Given the description of an element on the screen output the (x, y) to click on. 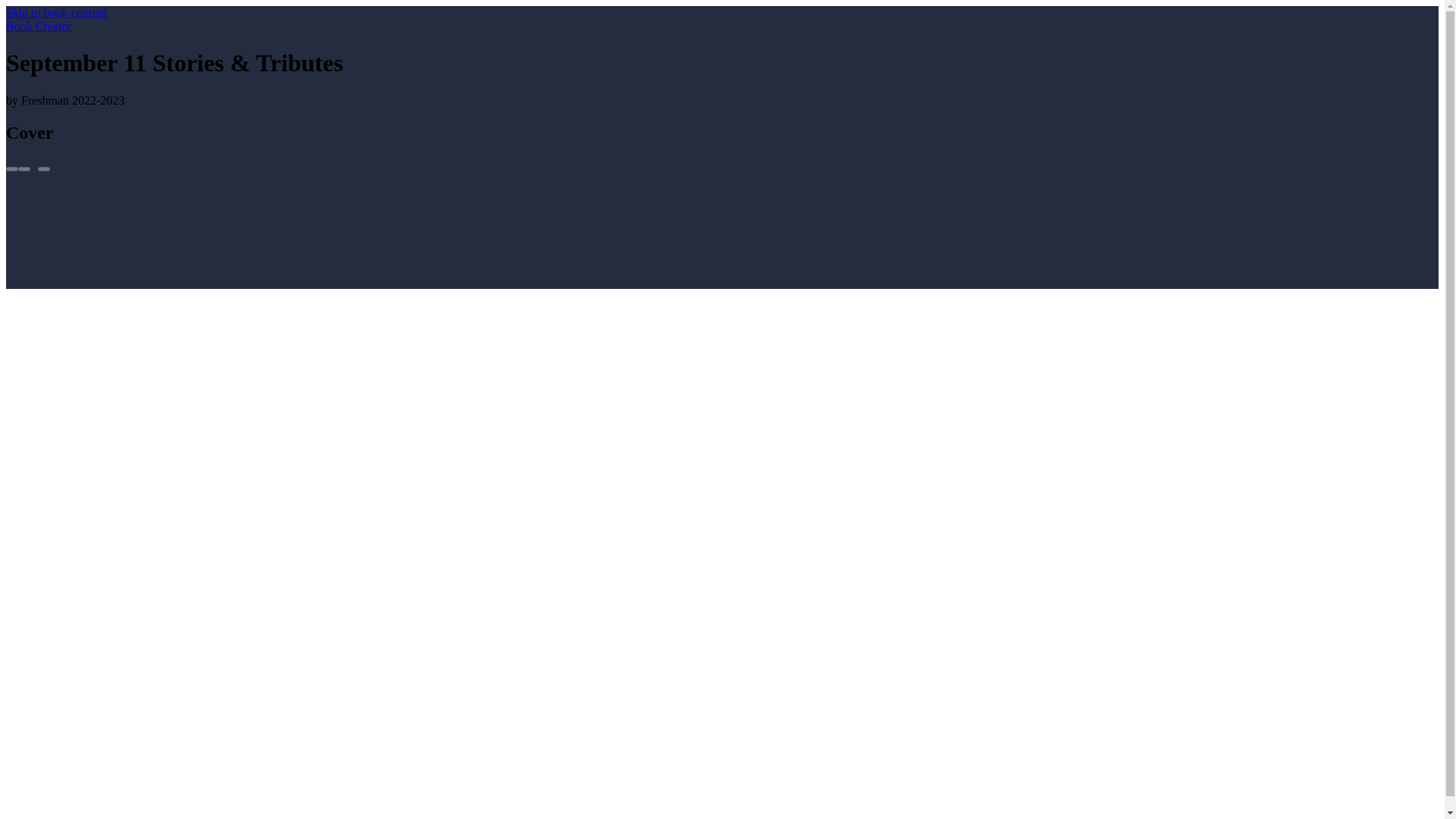
Menu (43, 169)
Book Creator (38, 25)
Go to Book Creator website (38, 25)
Skip to book content (55, 11)
Skip to book content (55, 11)
Settings (23, 169)
Pages (11, 169)
